Given the description of an element on the screen output the (x, y) to click on. 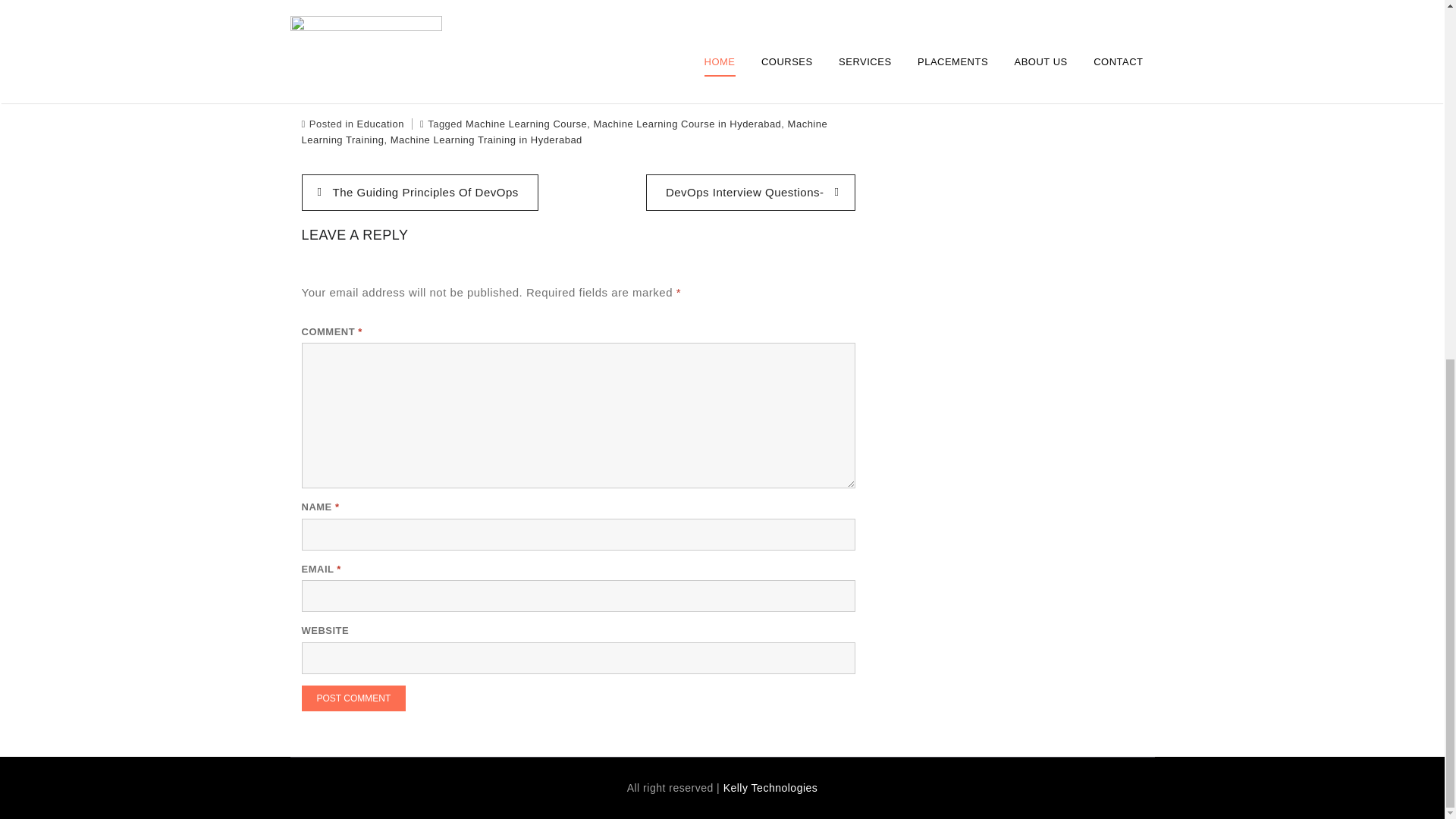
Machine Learning Training in Hyderabad (486, 139)
Machine Learning Course (525, 123)
Education (380, 123)
DevOps Interview Questions- (751, 192)
Post Comment (353, 698)
Post Comment (353, 698)
Machine Learning Course in Hyderabad (687, 123)
The Guiding Principles Of DevOps (419, 192)
Machine Learning Training (564, 131)
